Given the description of an element on the screen output the (x, y) to click on. 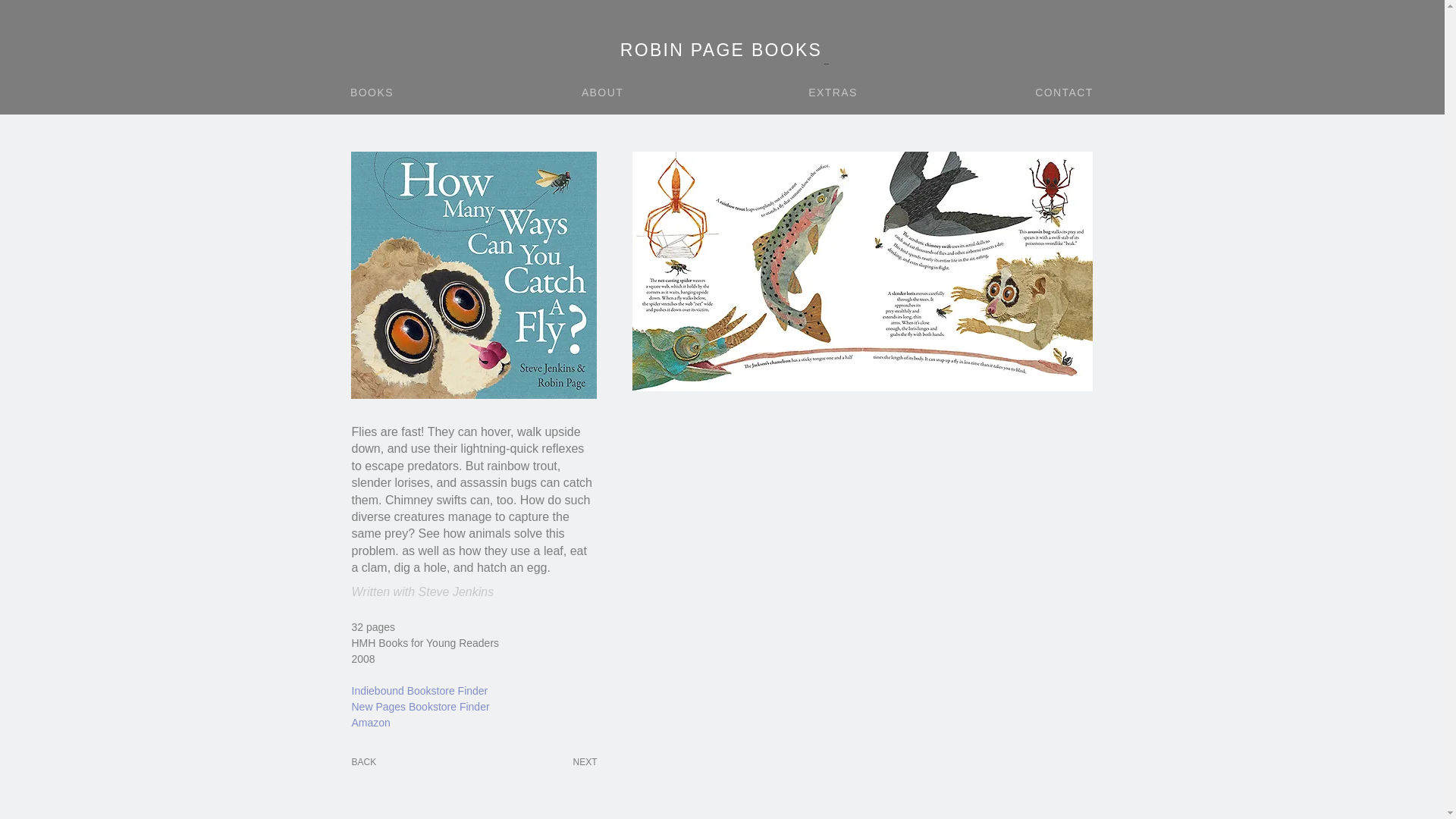
ABOUT (604, 91)
Amazon (371, 722)
Indiebound Bookstore Finder (419, 690)
BACK (364, 761)
BOOKS (374, 91)
ROBIN PAGE BOOKS (723, 50)
CONTACT (1065, 91)
New Pages Bookstore Finder (420, 706)
NEXT (584, 761)
EXTRAS (834, 91)
